Given the description of an element on the screen output the (x, y) to click on. 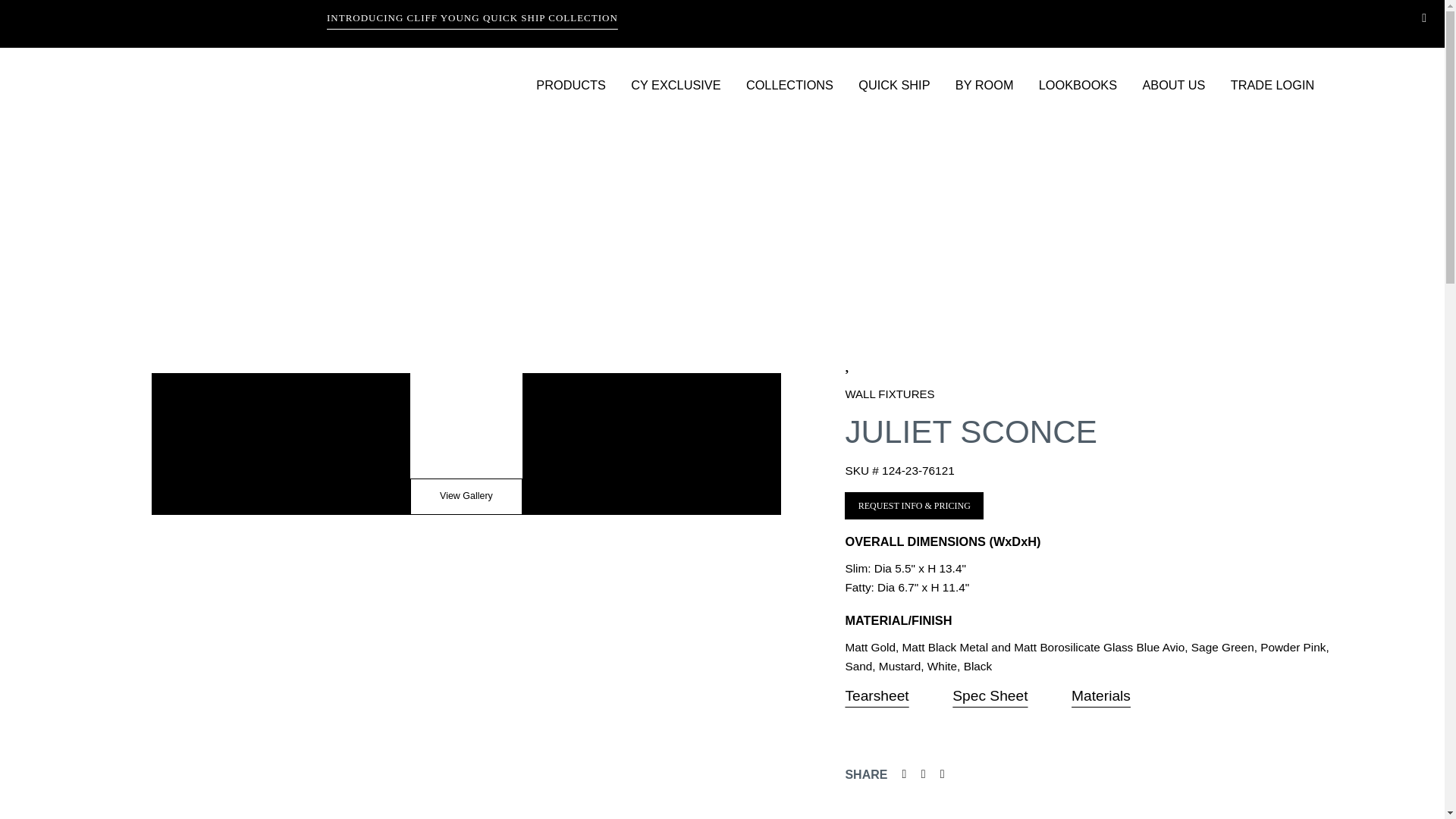
Juliet Sconce (914, 505)
INTRODUCING CLIFF YOUNG QUICK SHIP COLLECTION (187, 20)
PRODUCTS (581, 91)
